Given the description of an element on the screen output the (x, y) to click on. 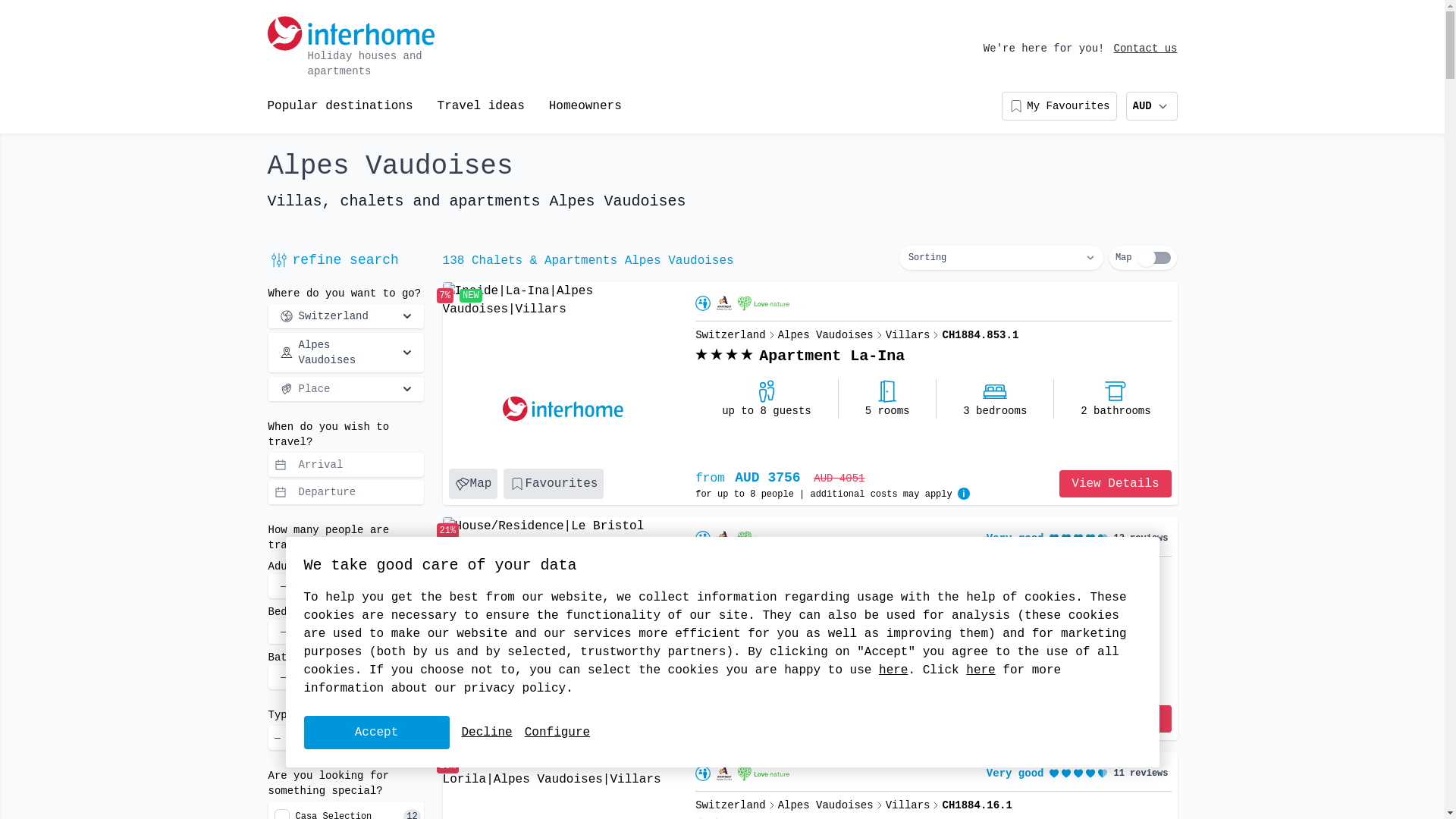
Switzerland Element type: text (730, 334)
Apartment Le Bristol A54 Element type: text (852, 591)
Alpes Vaudoises Element type: text (825, 569)
Alpes Vaudoises Element type: text (825, 334)
Inside Element type: hover (563, 300)
Switzerland Element type: text (345, 316)
Accept Element type: text (375, 732)
Switzerland Element type: text (730, 569)
Favourites Element type: text (553, 718)
View Details Element type: text (1114, 718)
House/Residence Element type: hover (563, 535)
Popular destinations Element type: text (339, 106)
Apartment La-Ina Element type: text (831, 356)
4.2 / 5 Element type: hover (1078, 773)
Travel ideas Element type: text (480, 106)
Alpes Vaudoises Element type: text (345, 352)
Alpes Vaudoises Element type: text (825, 804)
Homeowners Element type: text (584, 106)
4.2 / 5 Element type: hover (1078, 537)
My Favourites Element type: text (1058, 105)
Villars Element type: text (907, 804)
Contact us Element type: text (1144, 48)
Switzerland Element type: text (730, 804)
House/Residence Element type: hover (563, 770)
Favourites Element type: text (553, 483)
View Details Element type: text (1114, 483)
Map Element type: text (473, 718)
Place Element type: text (345, 388)
Villars Element type: text (907, 334)
Map Element type: text (473, 483)
Villars Element type: text (907, 569)
